Given the description of an element on the screen output the (x, y) to click on. 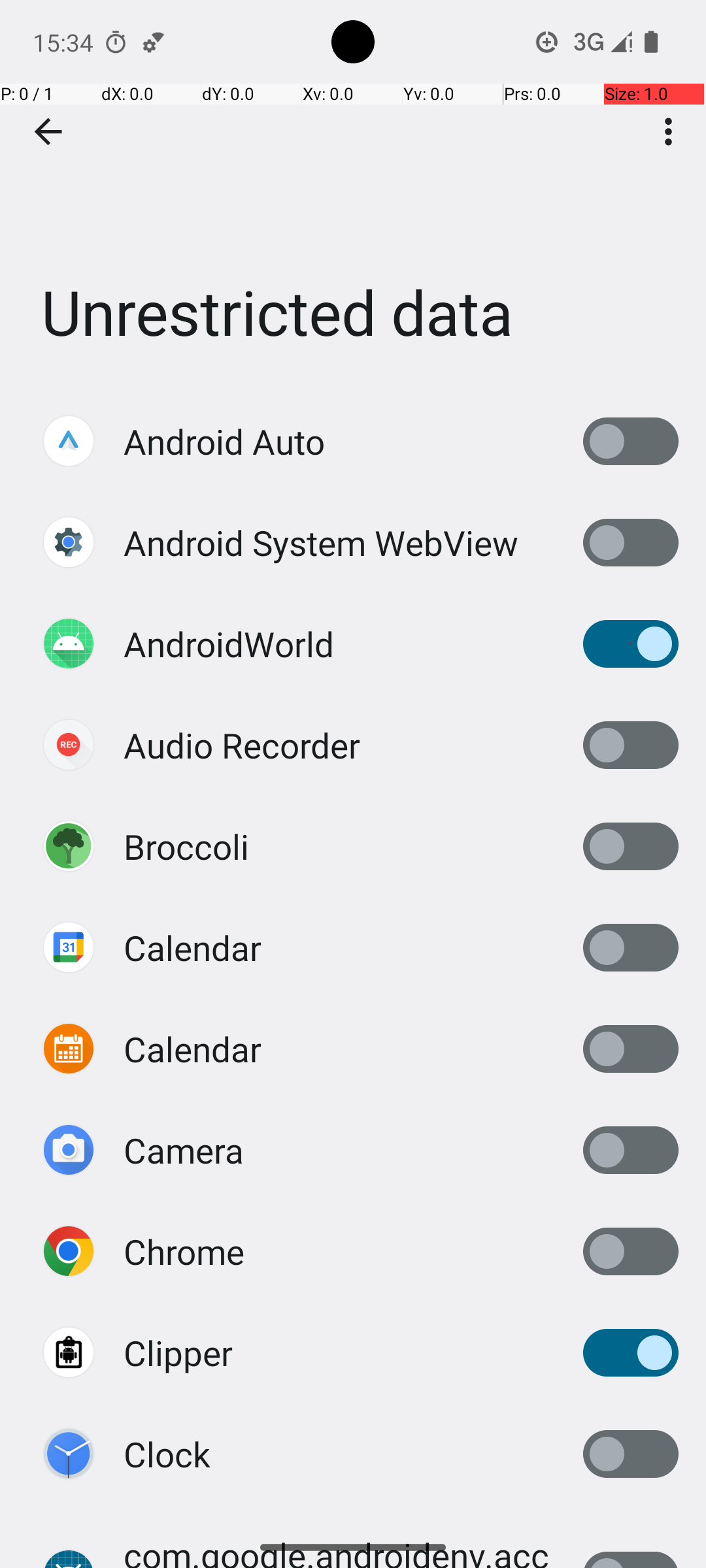
Unrestricted data Element type: android.widget.FrameLayout (353, 195)
